Given the description of an element on the screen output the (x, y) to click on. 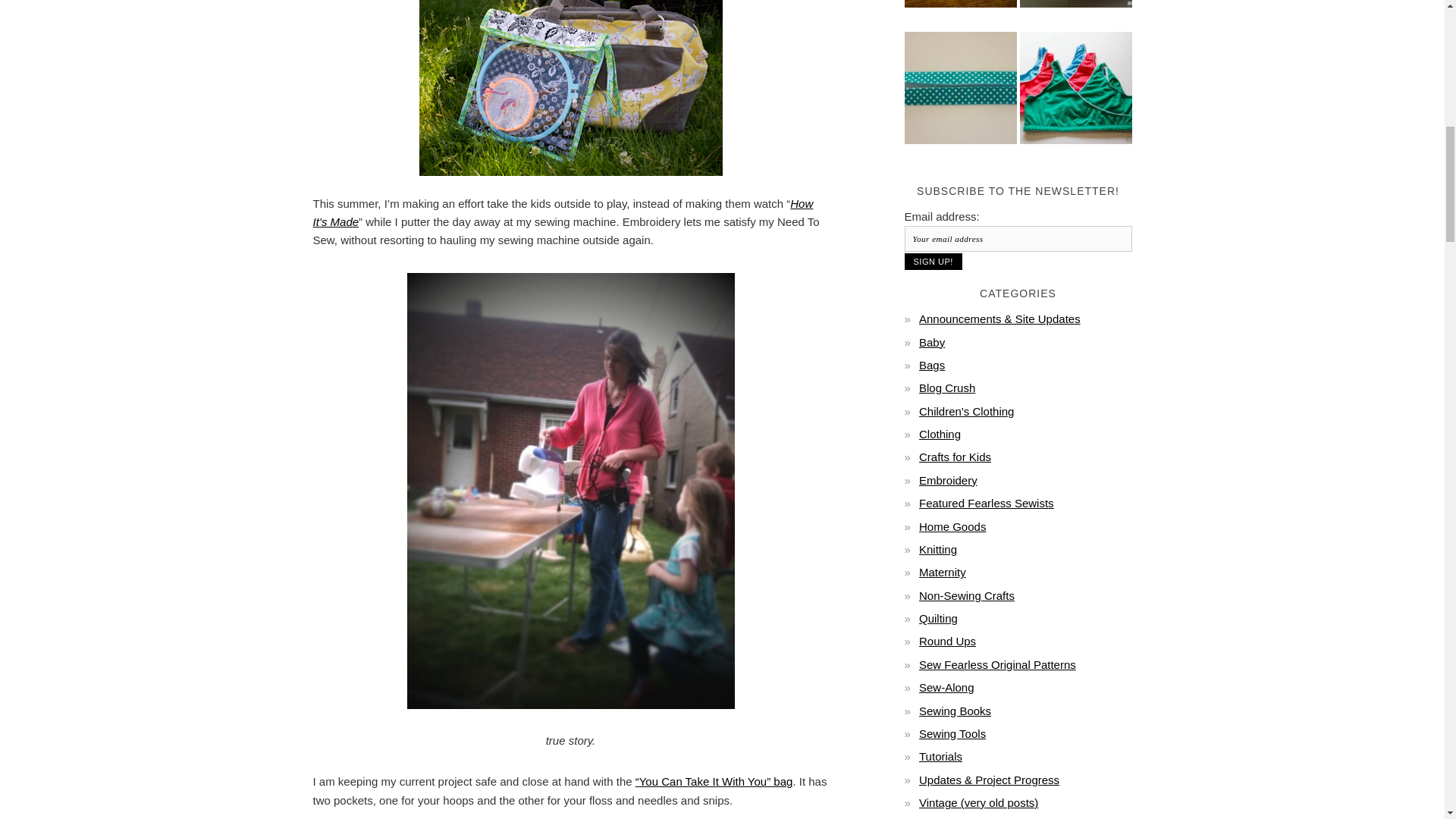
Is the tension on my machine broken? (1075, 13)
Sign up! (932, 261)
How To Finish A Shaped Quilt Edge Without Binding (960, 13)
outside-bydiaperbag (570, 88)
